Given the description of an element on the screen output the (x, y) to click on. 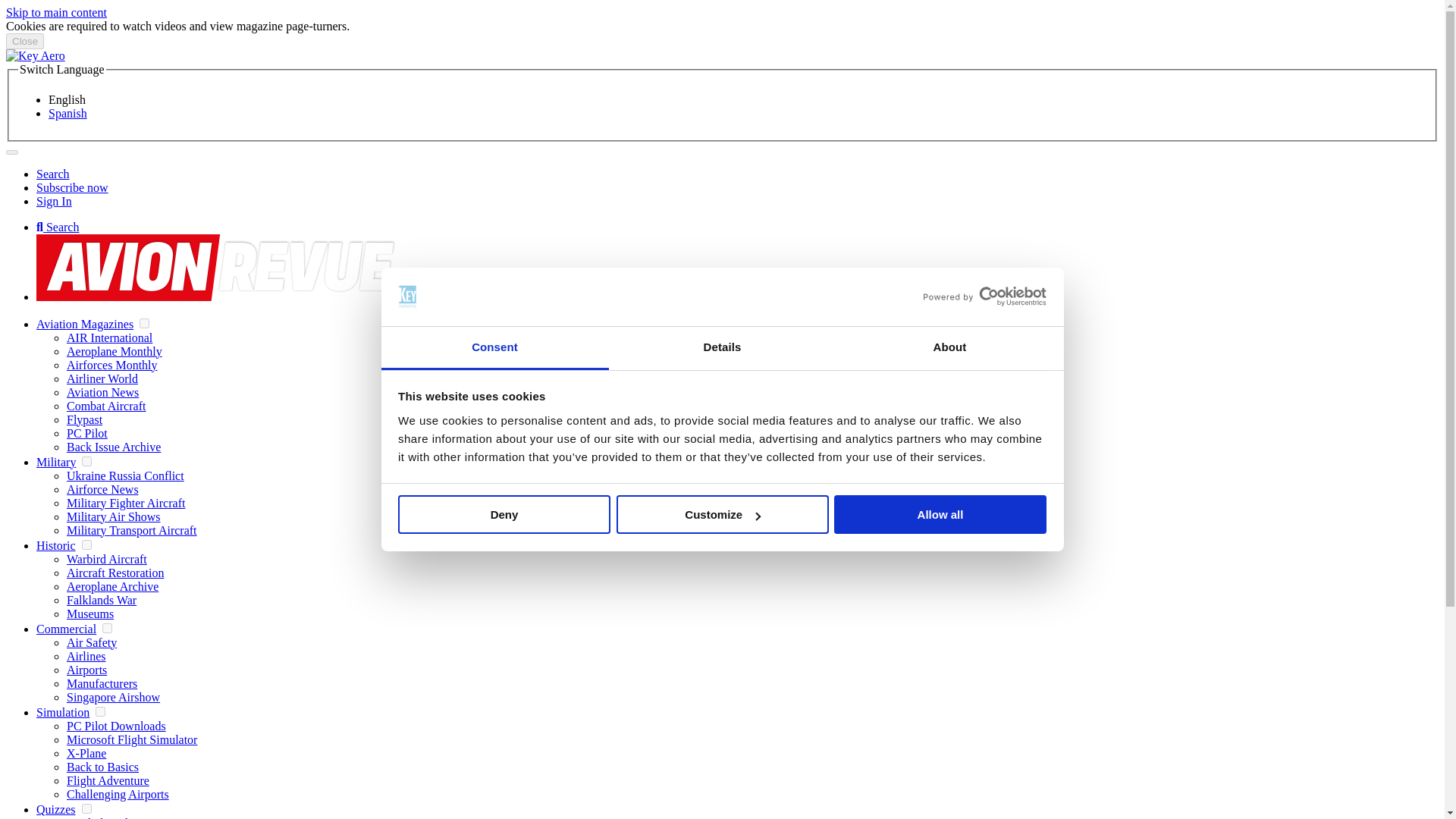
on (86, 461)
Consent (494, 348)
on (86, 544)
on (86, 808)
on (100, 711)
About (948, 348)
Details (721, 348)
on (144, 323)
on (106, 628)
